Given the description of an element on the screen output the (x, y) to click on. 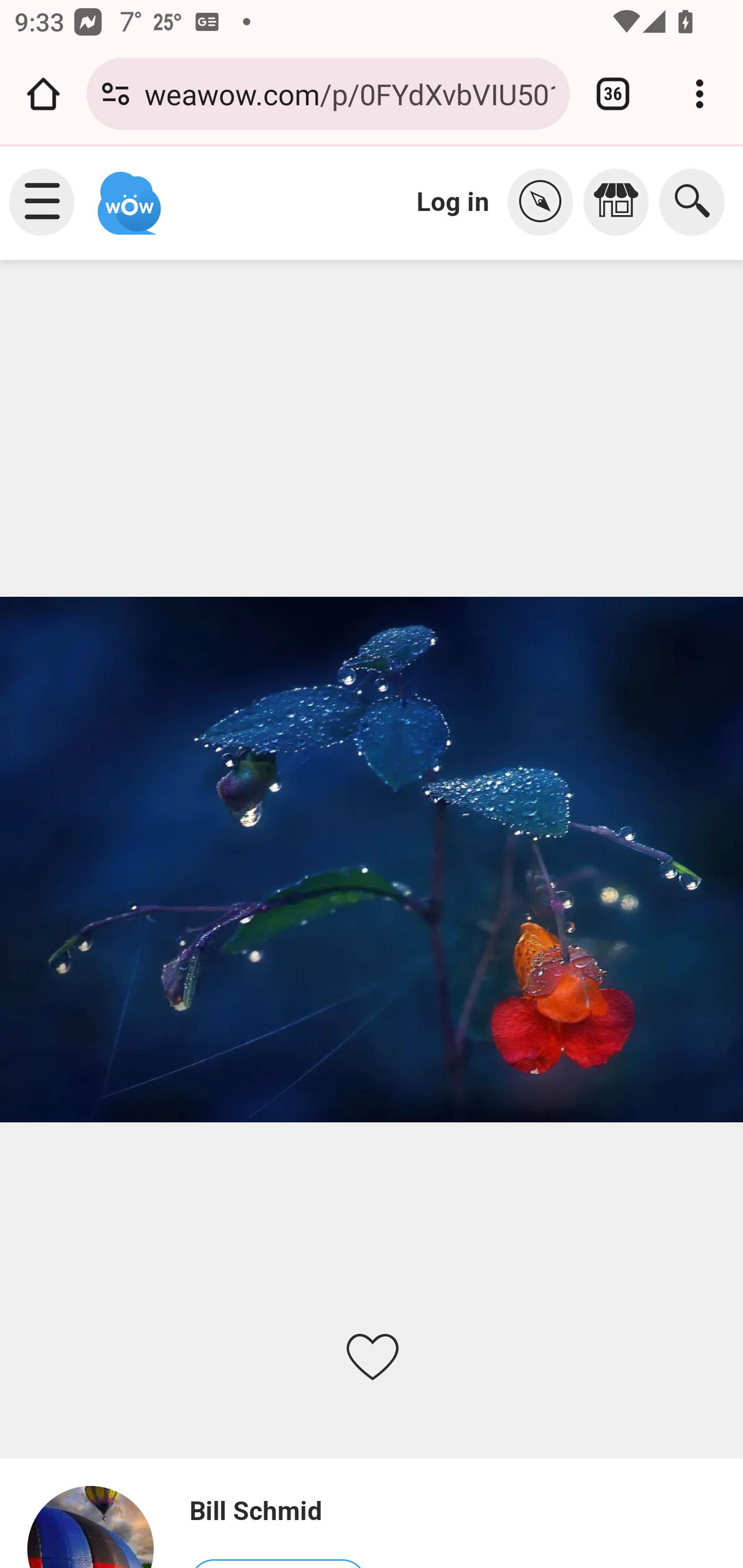
Open the home page (43, 93)
Connection is secure (115, 93)
Switch or close tabs (612, 93)
Customize and control Google Chrome (699, 93)
weawow.com/p/0FYdXvbVIU501022 (349, 92)
Weawow (127, 194)
 (545, 201)
 (621, 201)
Log in (452, 201)
Bill%20Schmid (99, 1525)
Bill Schmid (276, 1510)
